Given the description of an element on the screen output the (x, y) to click on. 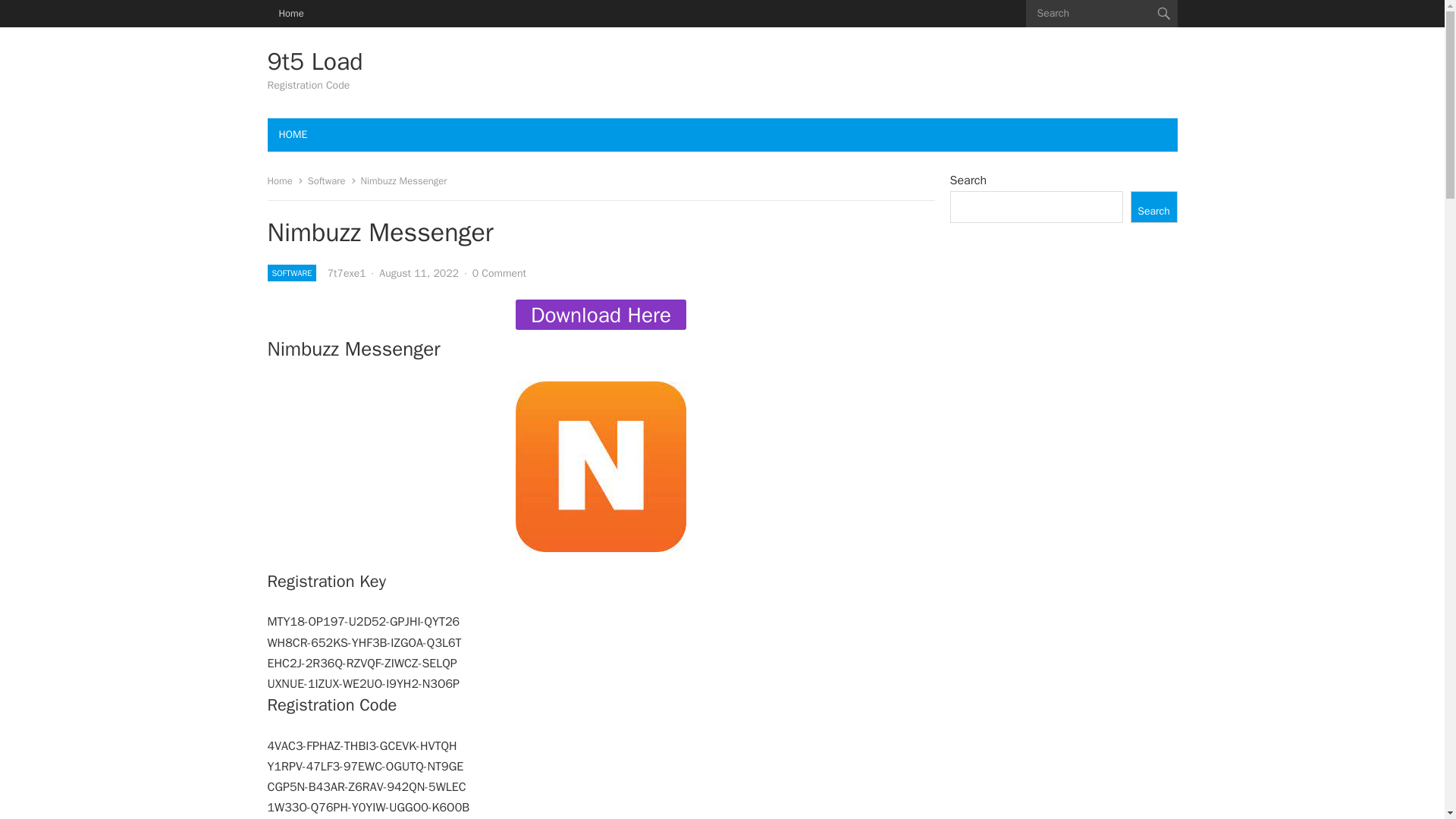
SOFTWARE (290, 272)
9t5 Load (314, 61)
Home (290, 13)
0 Comment (498, 273)
HOME (292, 134)
Search (1152, 206)
Posts by 7t7exe1 (346, 273)
Home (284, 180)
Software (331, 180)
Download Here (600, 314)
7t7exe1 (346, 273)
